Given the description of an element on the screen output the (x, y) to click on. 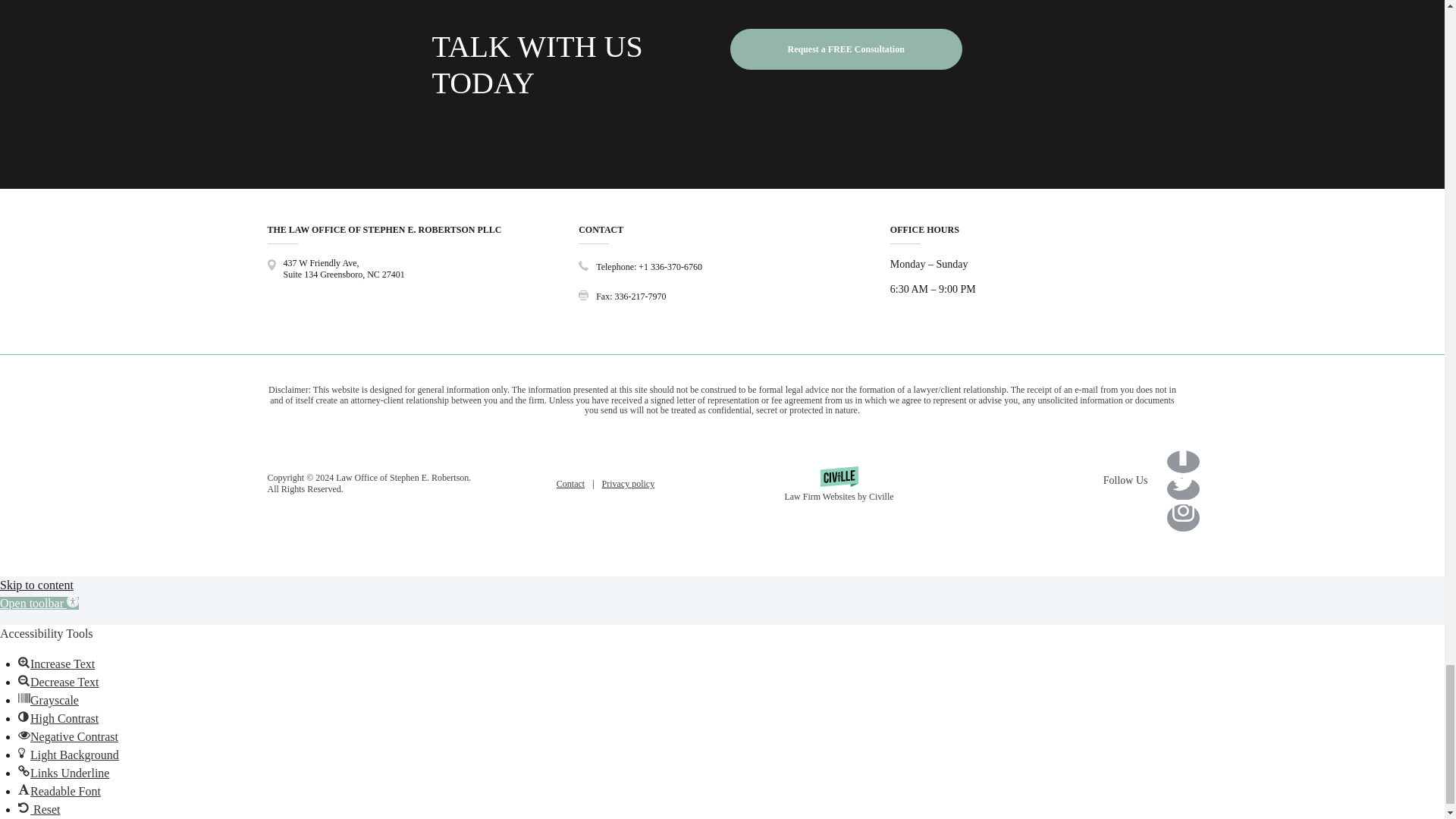
Increase Text (23, 662)
Our Twitter (1182, 481)
Light Background (23, 752)
Links Underline (23, 770)
Our Instagram (1182, 510)
Negative Contrast (23, 734)
Reset (23, 807)
Accessibility Tools (39, 603)
Readable Font (23, 788)
Grayscale (23, 698)
High Contrast (23, 716)
Accessibility Tools (72, 601)
Decrease Text (23, 680)
Our Facebook (1182, 448)
